Given the description of an element on the screen output the (x, y) to click on. 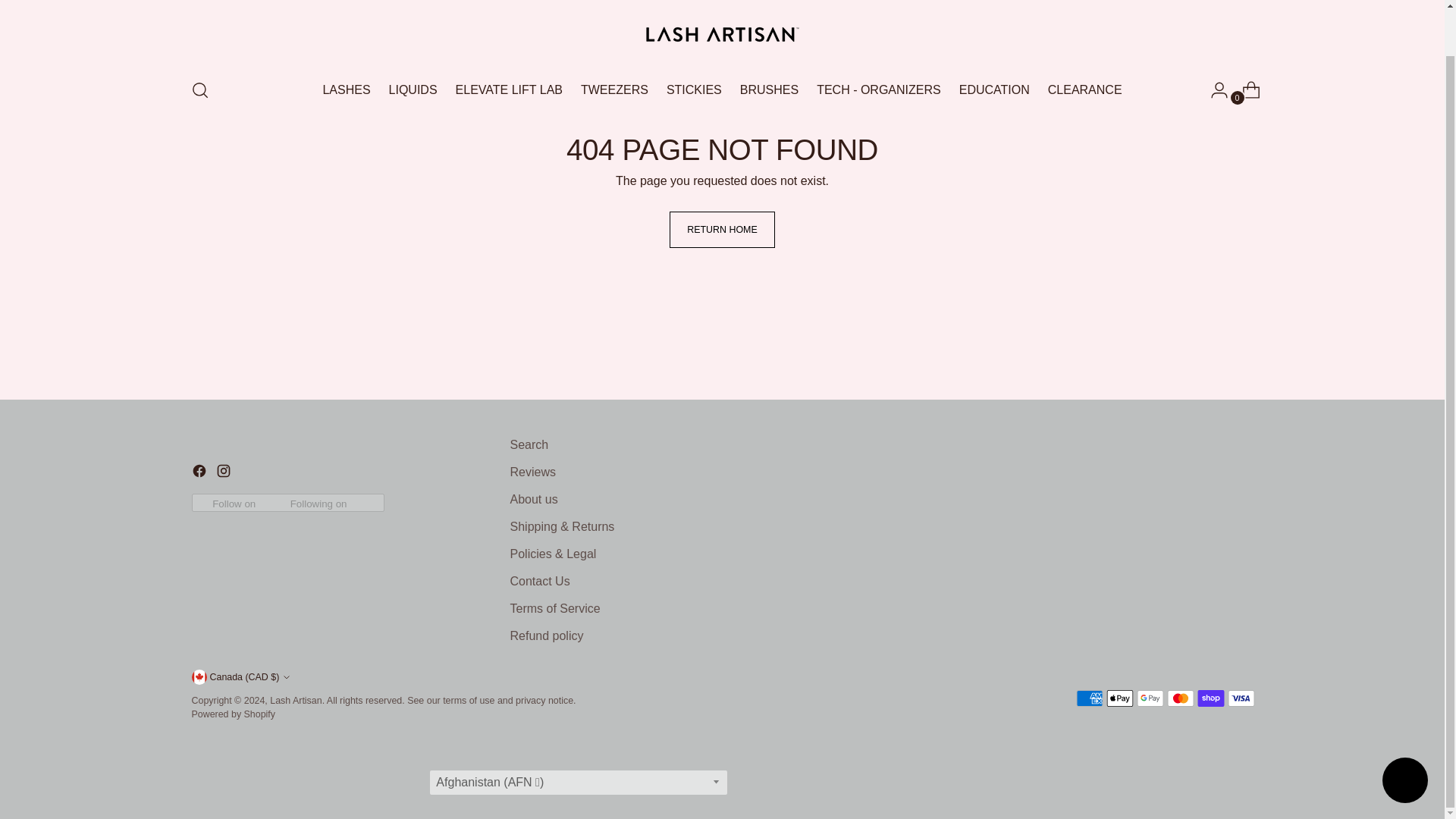
ELEVATE LIFT LAB (508, 90)
LASHES (345, 90)
Shopify online store chat (1404, 733)
TECH - ORGANIZERS (878, 90)
EDUCATION (994, 90)
STICKIES (694, 90)
TWEEZERS (613, 90)
CLEARANCE (1085, 90)
BRUSHES (768, 90)
Lash Artisan on Facebook (199, 473)
LIQUIDS (413, 90)
Lash Artisan on Instagram (223, 473)
